Given the description of an element on the screen output the (x, y) to click on. 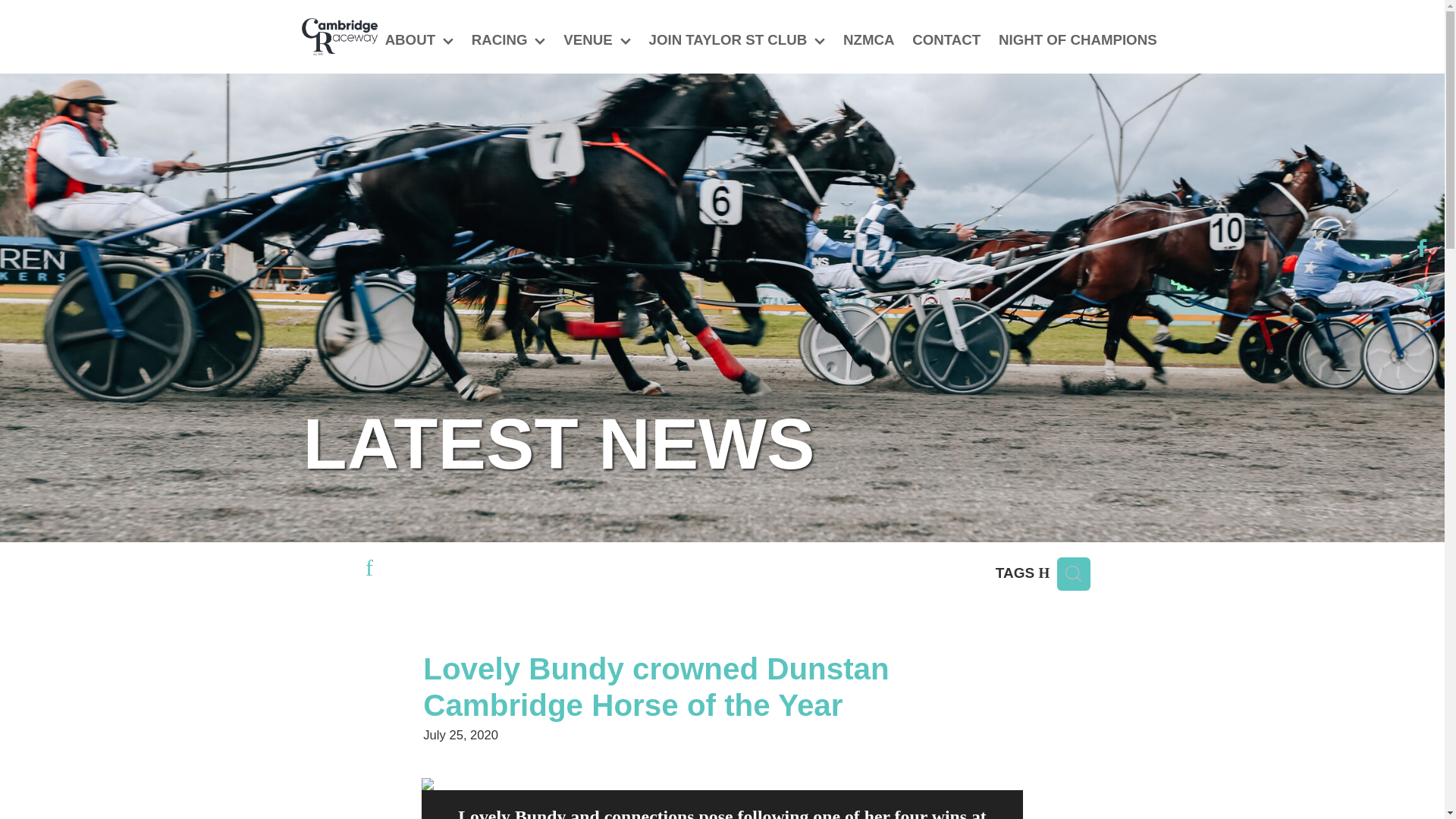
ABOUT (419, 40)
JOIN TAYLOR ST CLUB (737, 40)
View all posts (369, 570)
RACING (508, 40)
VENUE (596, 40)
f (369, 570)
CONTACT (946, 40)
NIGHT OF CHAMPIONS (1078, 40)
NZMCA (868, 40)
